Given the description of an element on the screen output the (x, y) to click on. 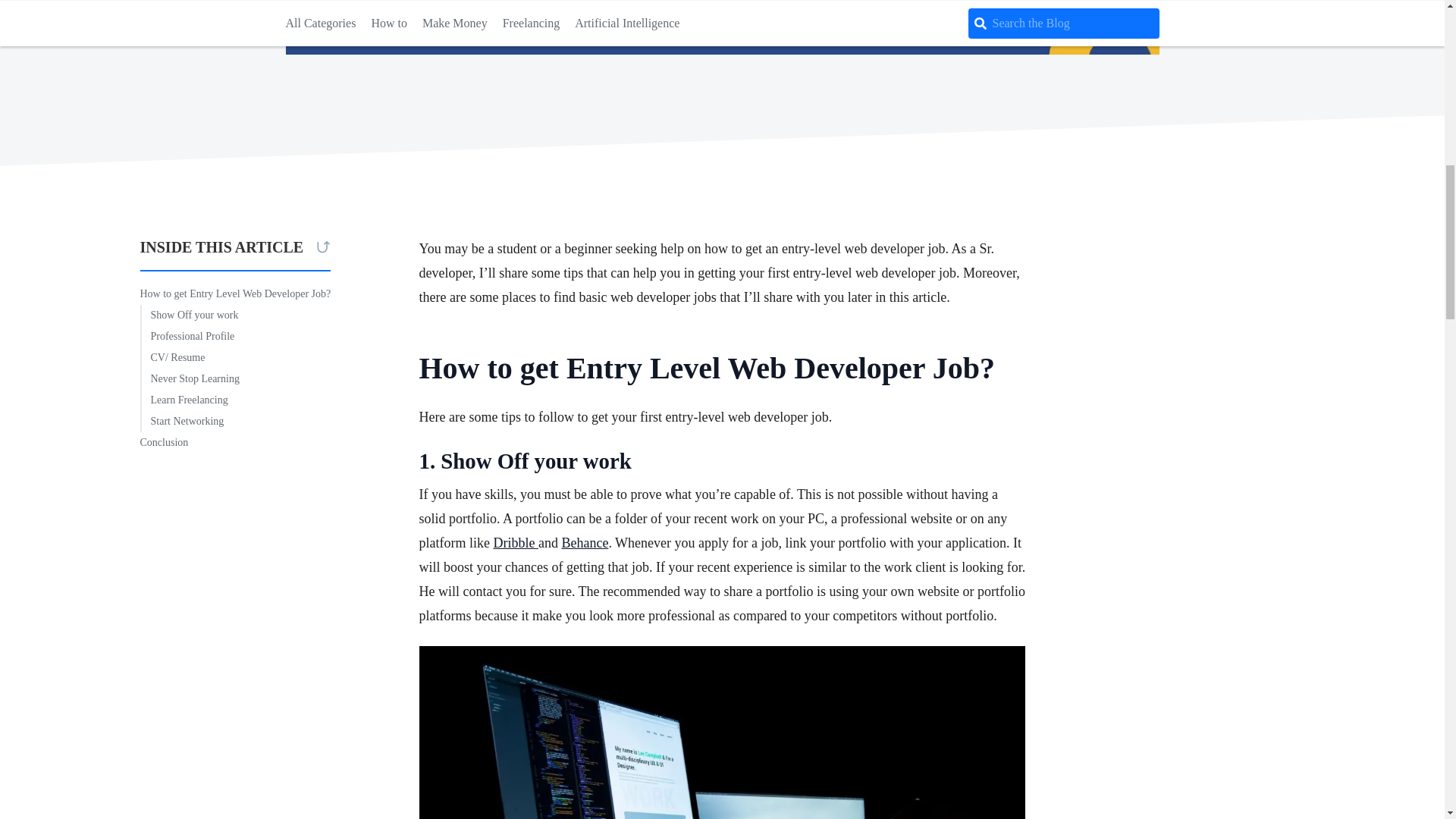
Never Stop Learning (188, 378)
Learn Freelancing (183, 400)
Dribble (515, 542)
Behance (584, 542)
Professional Profile (186, 336)
Start Networking (181, 421)
Show Off your work (188, 314)
Conclusion (163, 442)
How to get Entry Level Web Developer Job? (234, 293)
